Given the description of an element on the screen output the (x, y) to click on. 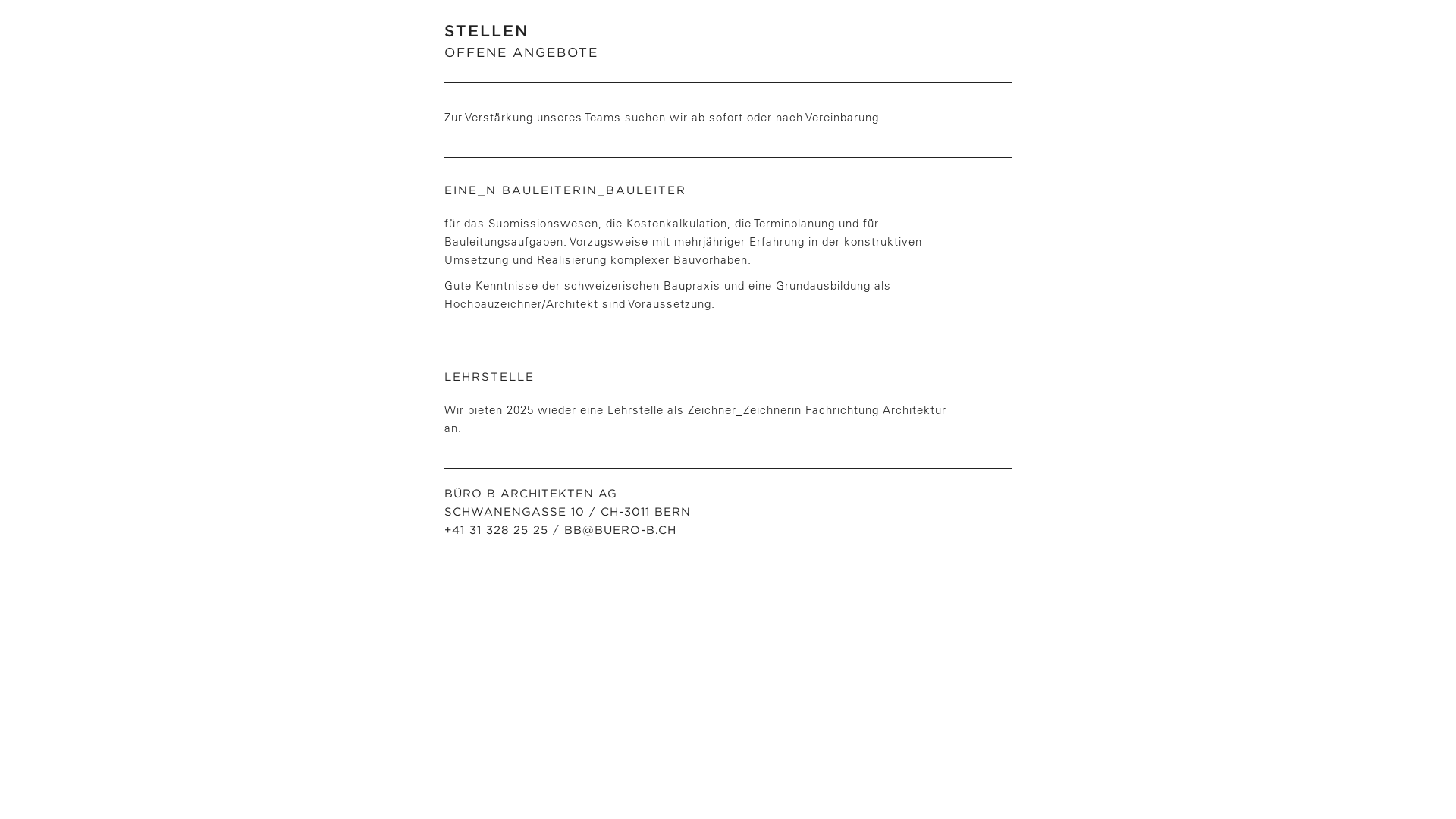
+41 31 328 25 25 Element type: text (496, 529)
BB@BUERO-B.CH Element type: text (620, 529)
